Given the description of an element on the screen output the (x, y) to click on. 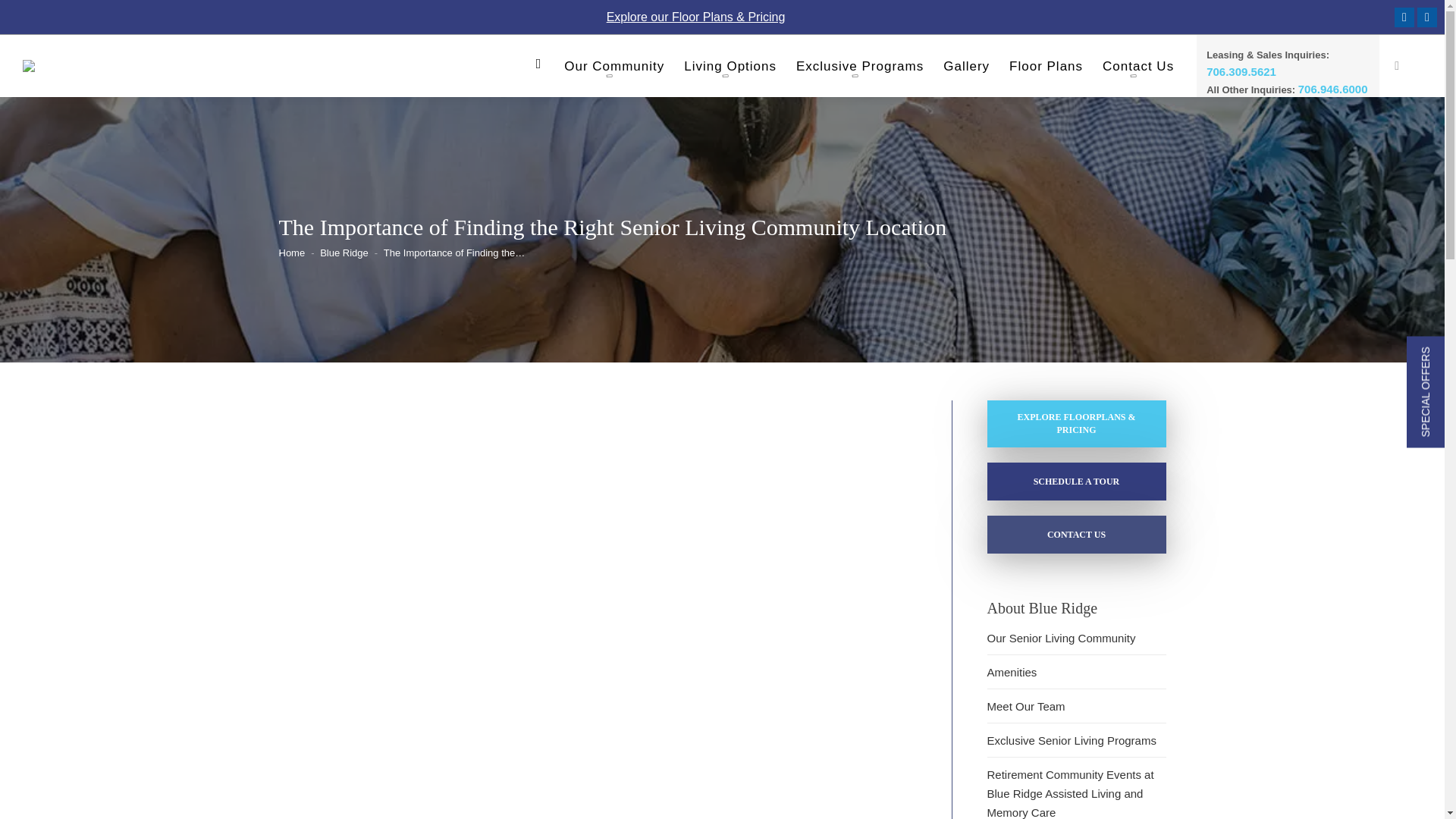
Instagram page opens in new window (1426, 17)
Schedule A Tour (1076, 481)
Exclusive Programs (859, 69)
Living Options (730, 69)
Instagram page opens in new window (1426, 17)
Facebook page opens in new window (1403, 17)
Contact Blue Ridge Senior Living (1076, 534)
Our Community (613, 69)
Facebook page opens in new window (1403, 17)
